Given the description of an element on the screen output the (x, y) to click on. 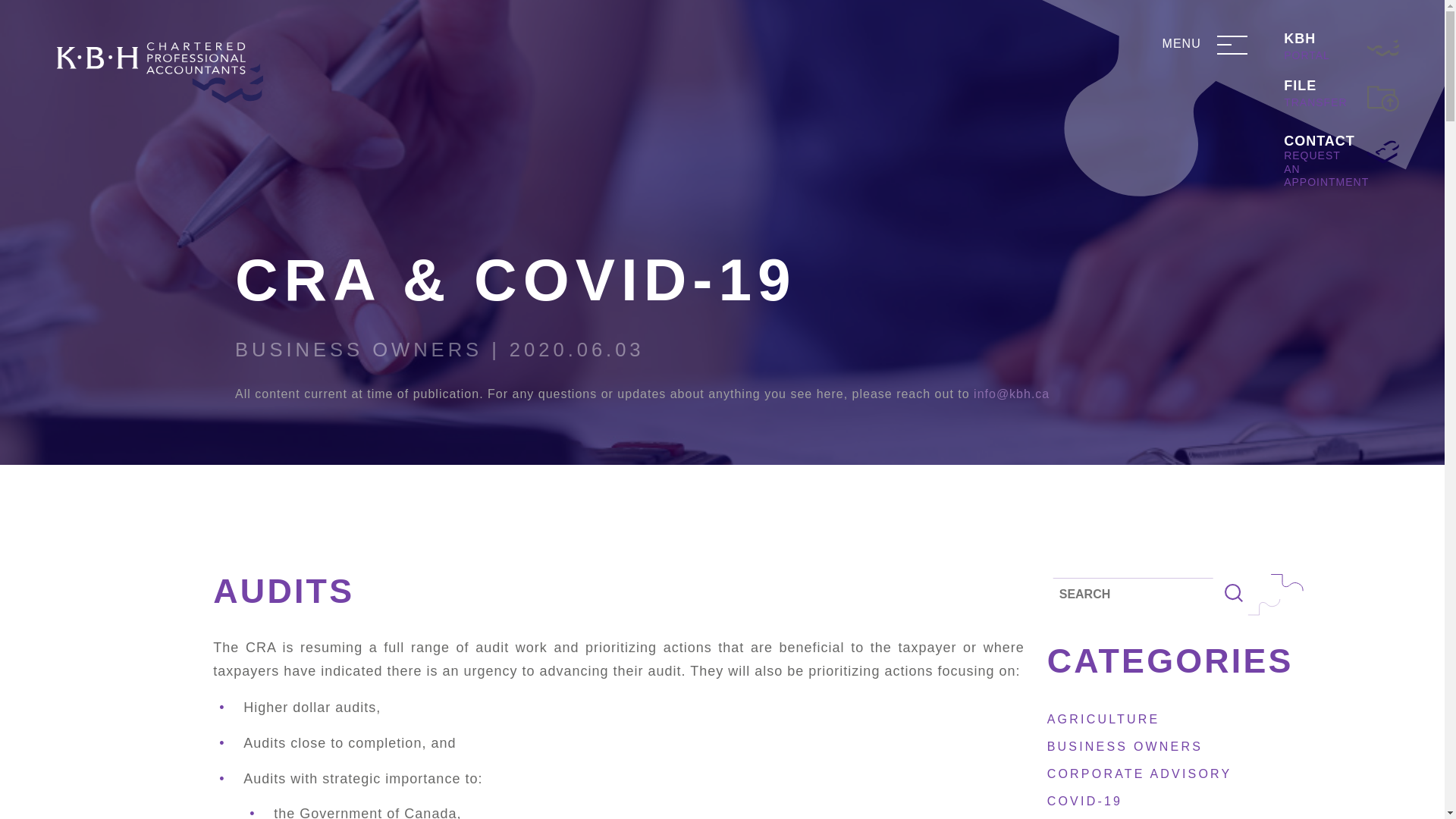
BUSINESS OWNERS (1124, 746)
COVID-19 (1341, 47)
AGRICULTURE (1084, 800)
CORPORATE ADVISORY (1341, 98)
